Given the description of an element on the screen output the (x, y) to click on. 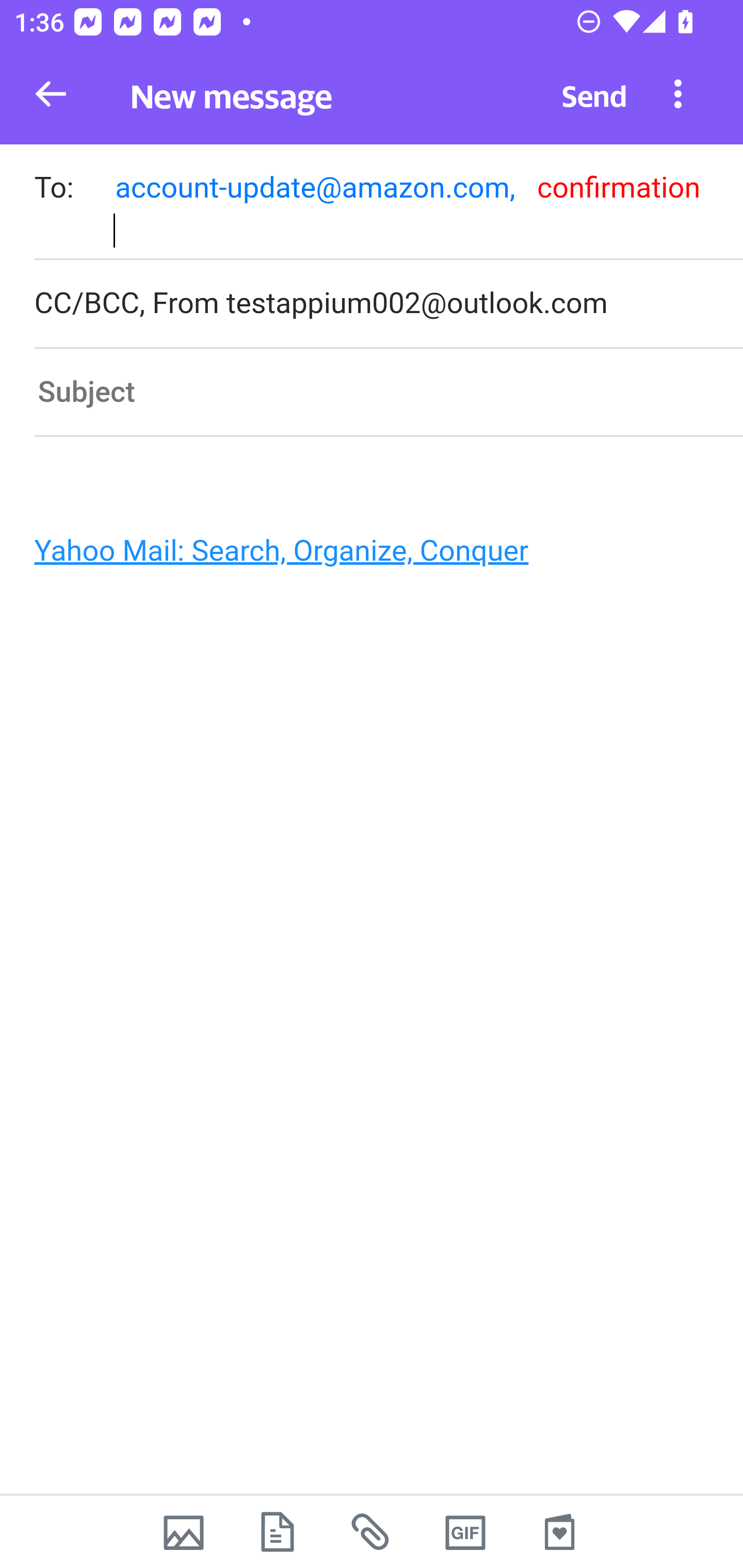
Back (50, 93)
Send (594, 93)
More options (677, 93)
To: account-update@amazon.com, confirmation (387, 202)
account-update@amazon.com, (314, 187)
confirmation (618, 187)
CC/BCC, From testappium002@outlook.com (387, 304)


Yahoo Mail: Search, Organize, Conquer (363, 555)
Camera photos (183, 1531)
Device files (277, 1531)
Recent attachments from mail (371, 1531)
GIFs (465, 1531)
Stationery (559, 1531)
